Given the description of an element on the screen output the (x, y) to click on. 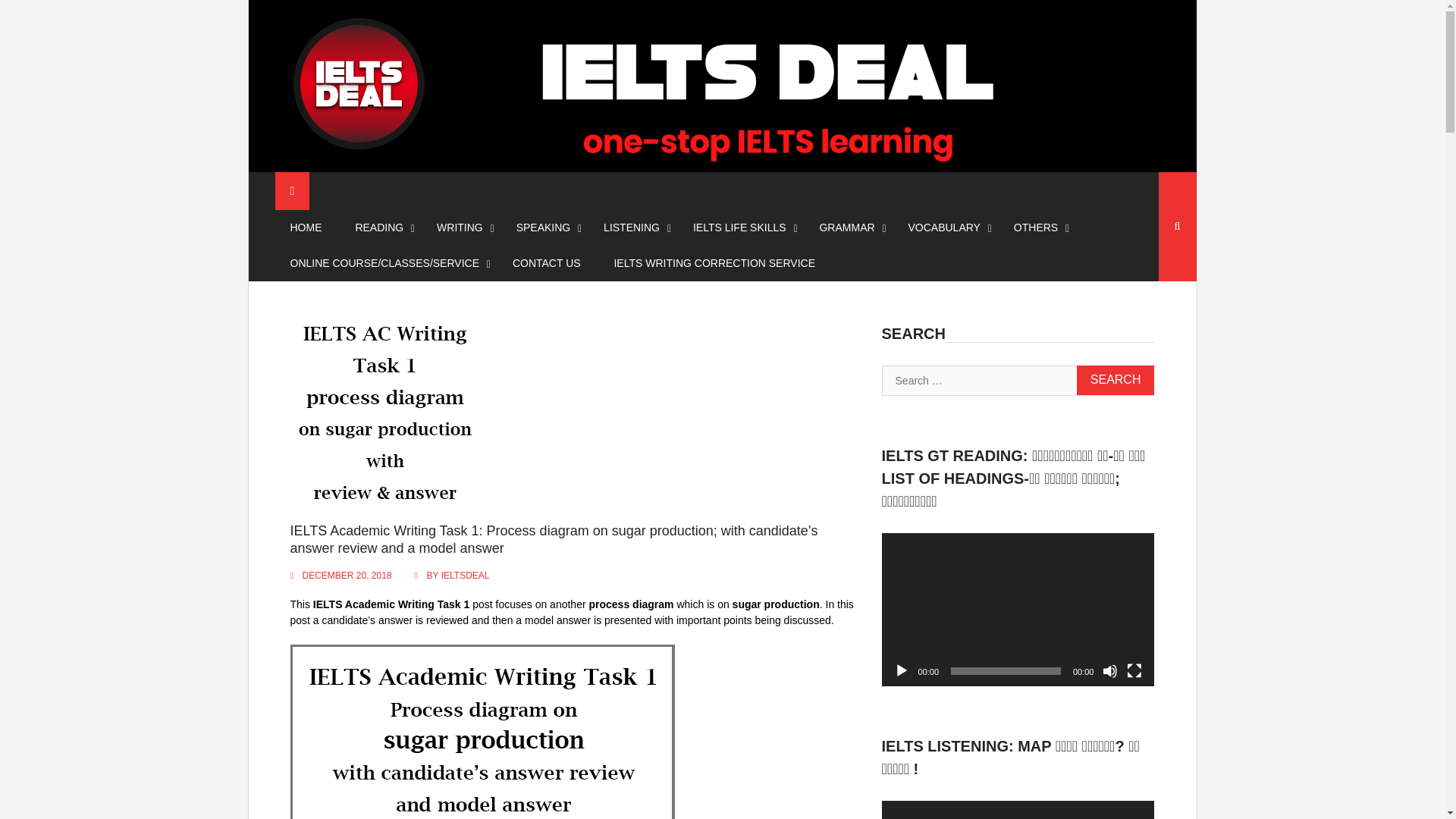
WRITING (459, 227)
HOME (305, 227)
IELTS Deal (336, 169)
Play (900, 670)
GRAMMAR (846, 227)
Fullscreen (1133, 670)
Mute (1110, 670)
SPEAKING (543, 227)
Search (1115, 379)
Search (1115, 379)
READING (379, 227)
LISTENING (631, 227)
IELTS LIFE SKILLS (740, 227)
VOCABULARY (944, 227)
